Given the description of an element on the screen output the (x, y) to click on. 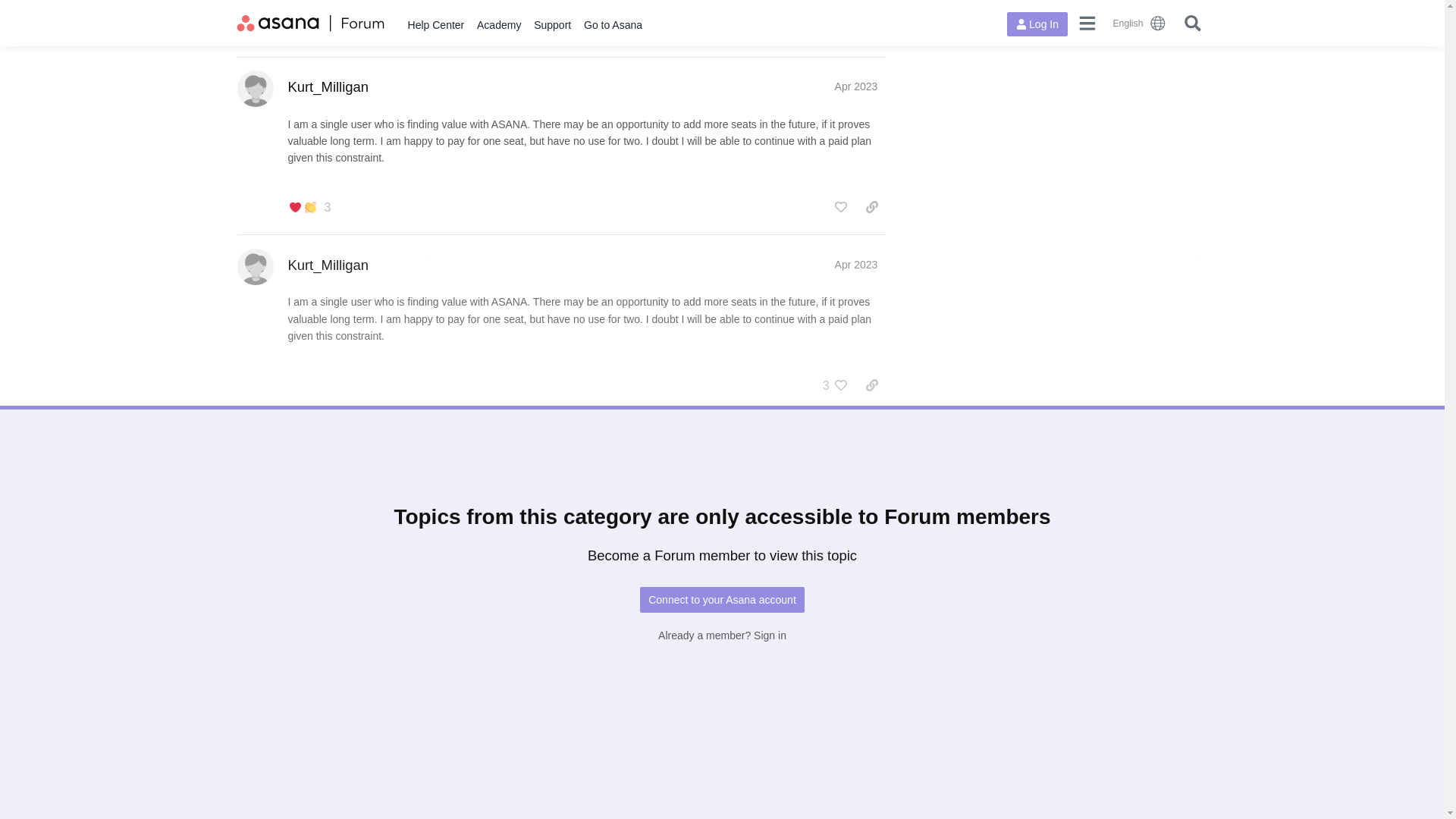
Asana Academy (498, 25)
Post date (855, 86)
Support (552, 25)
Why I need to buy almost 2 seat? (404, 749)
Forum Leaders tips (812, 562)
Academy (498, 25)
Asana Support (552, 25)
Please sign up or log in to like this post (840, 206)
Apr 2023 (855, 86)
Apr 2023 (855, 442)
Help Center (435, 25)
Log In (1037, 24)
Search (1192, 22)
Post date (855, 264)
